Given the description of an element on the screen output the (x, y) to click on. 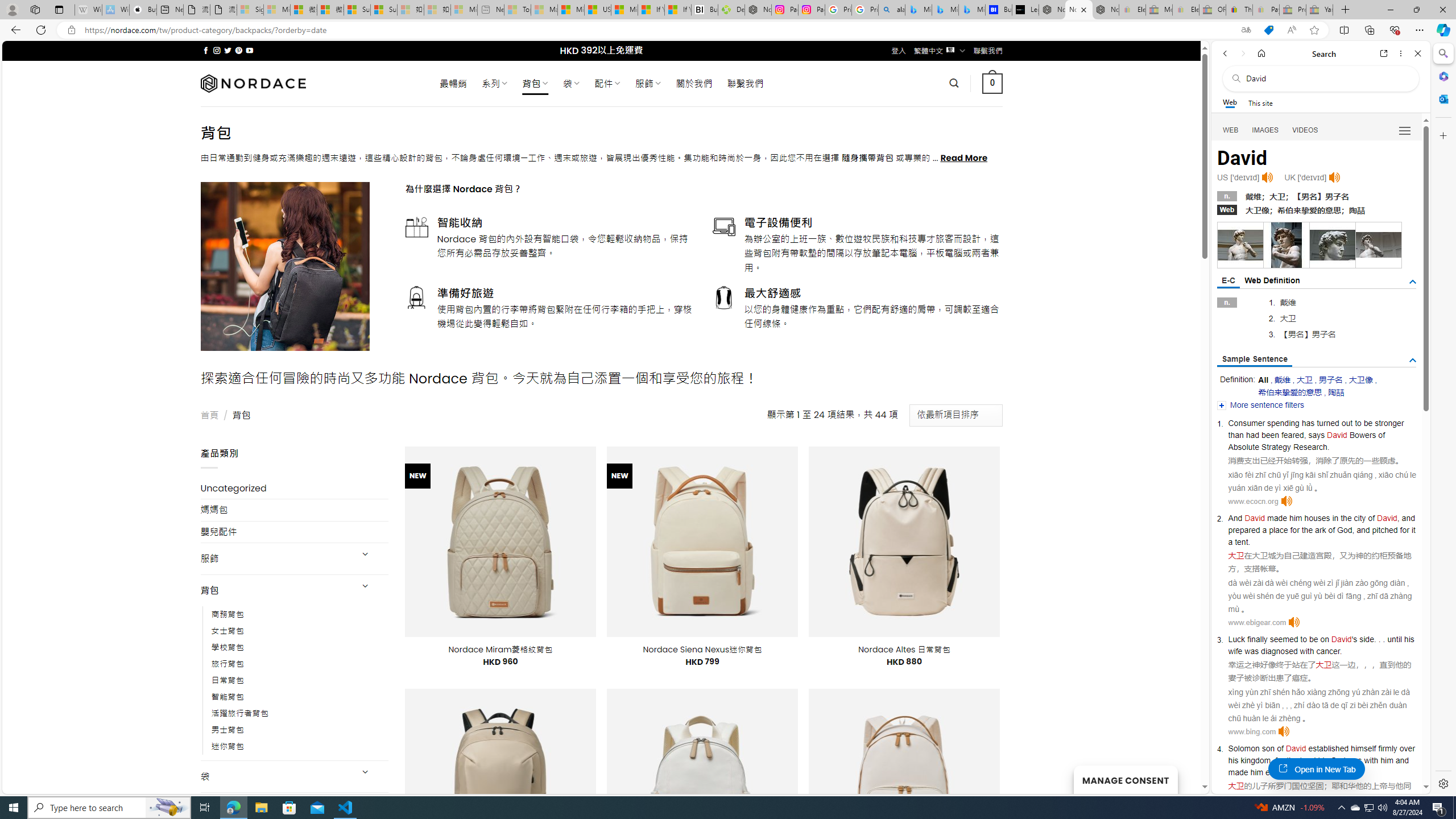
www.ecocn.org (1252, 501)
AutomationID: tgdef_sen (1412, 360)
Yard, Garden & Outdoor Living - Sleeping (1319, 9)
Microsoft Bing Travel - Shangri-La Hotel Bangkok (971, 9)
ark (1320, 529)
